Given the description of an element on the screen output the (x, y) to click on. 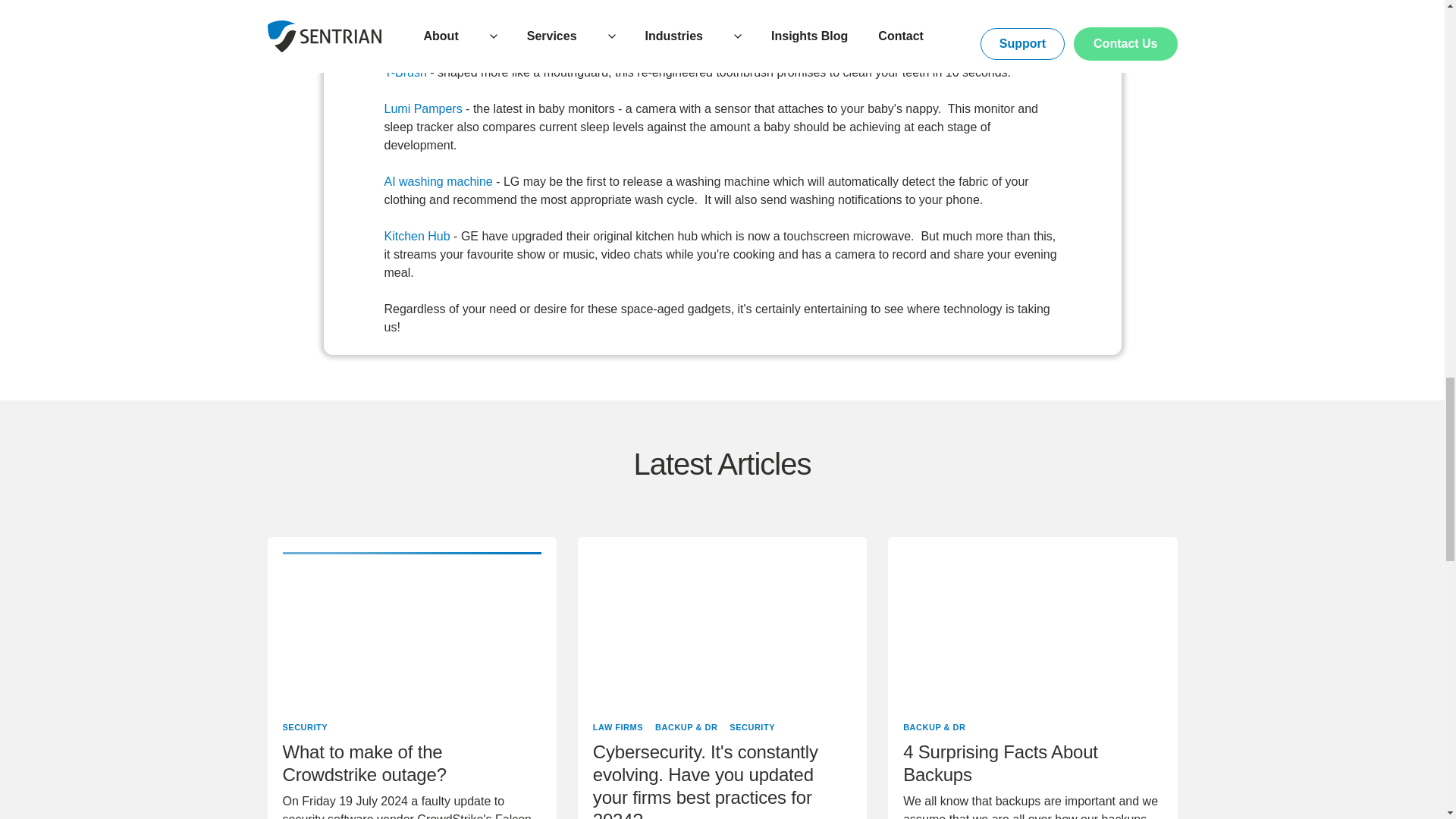
Lumi Pampers (422, 108)
Y-Brush (405, 72)
Kitchen Hub (416, 236)
AI washing machine (438, 181)
SECURITY (304, 727)
L'Oreal Perso (424, 17)
What to make of the Crowdstrike outage? (411, 766)
